Given the description of an element on the screen output the (x, y) to click on. 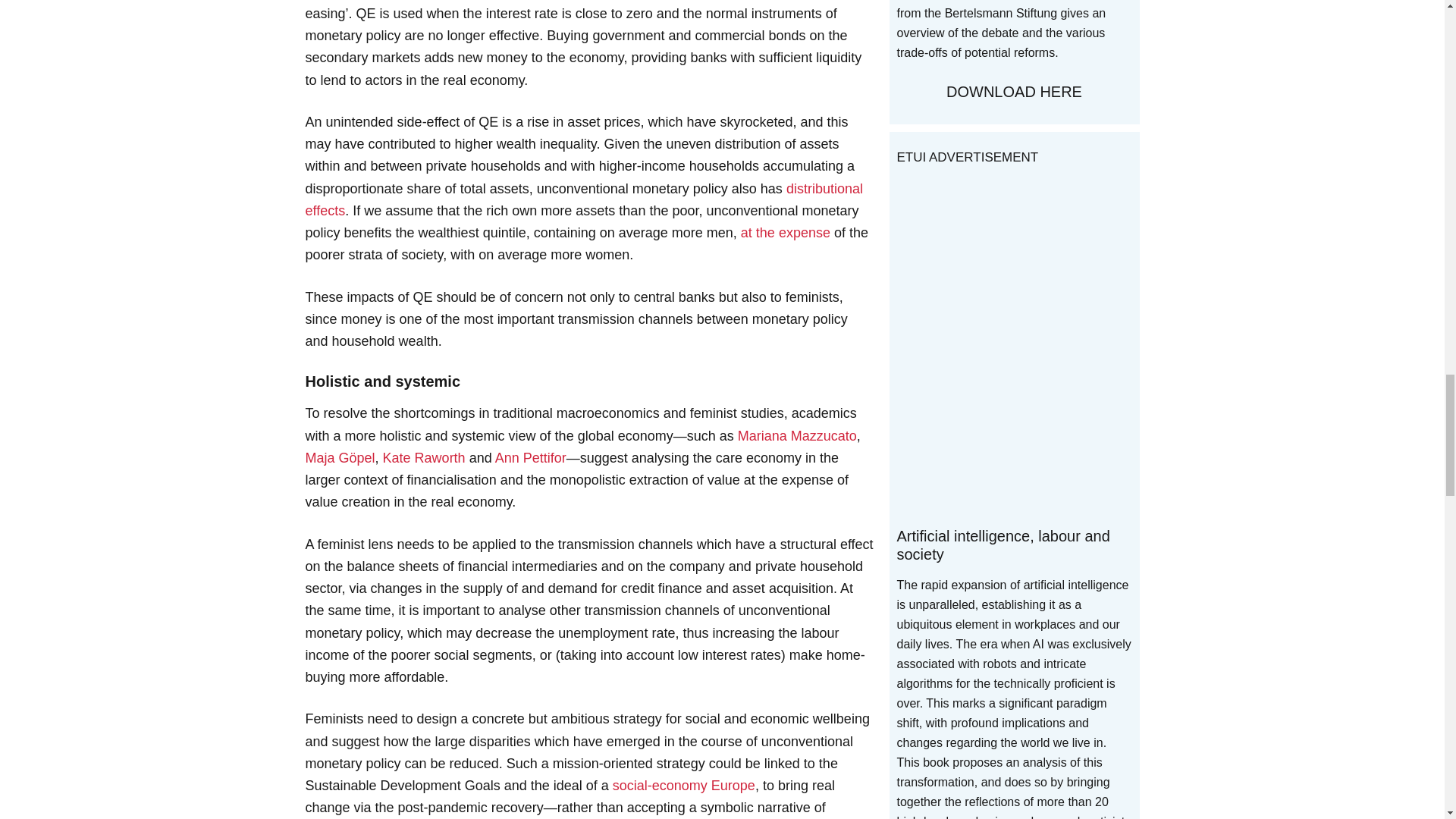
Mariana Mazzucato (797, 435)
Kate Raworth (423, 458)
social-economy Europe (683, 785)
distributional effects (582, 199)
Ann Pettifor (530, 458)
at the expense (785, 232)
